Given the description of an element on the screen output the (x, y) to click on. 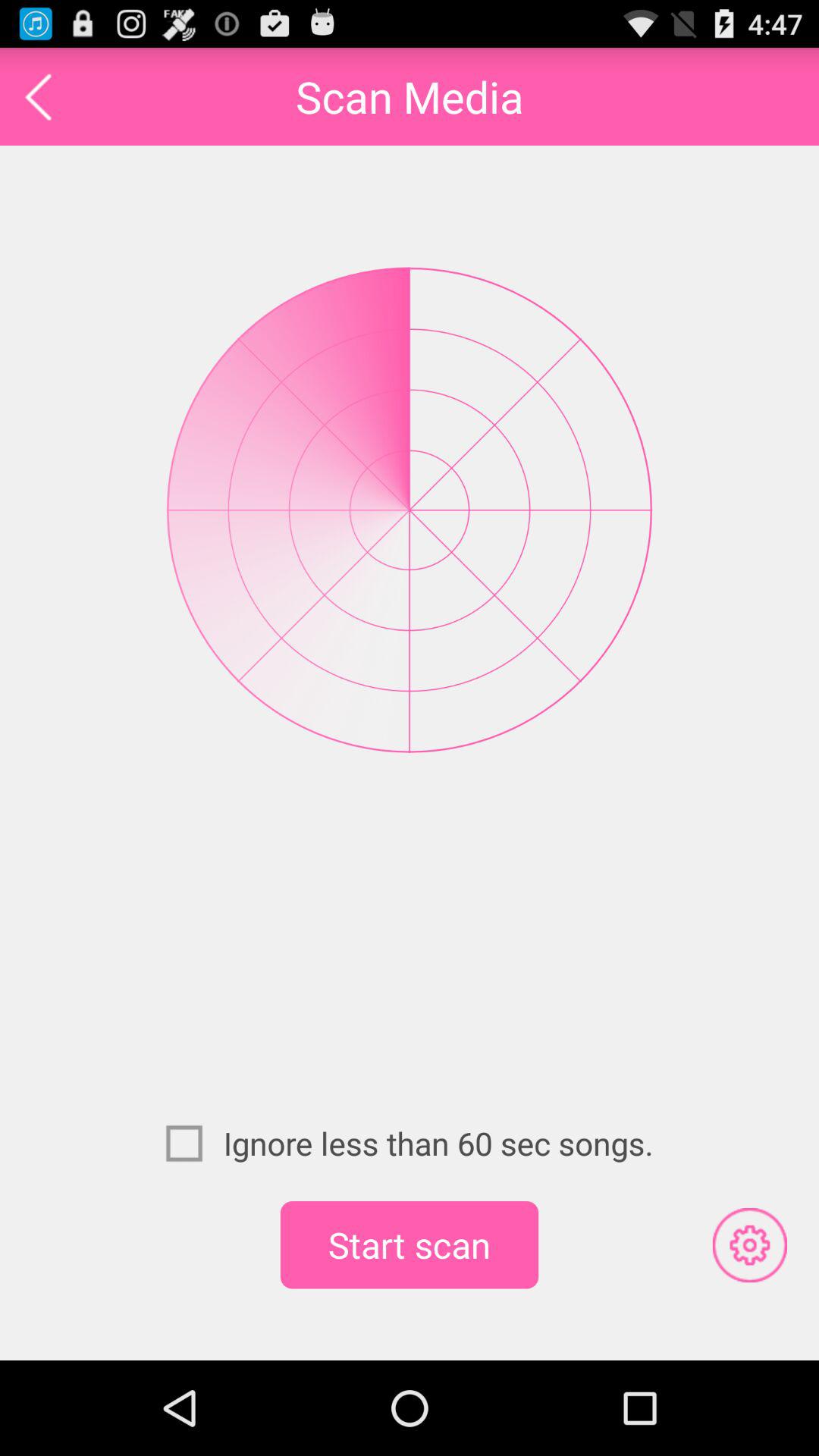
press icon at the bottom right corner (749, 1244)
